Given the description of an element on the screen output the (x, y) to click on. 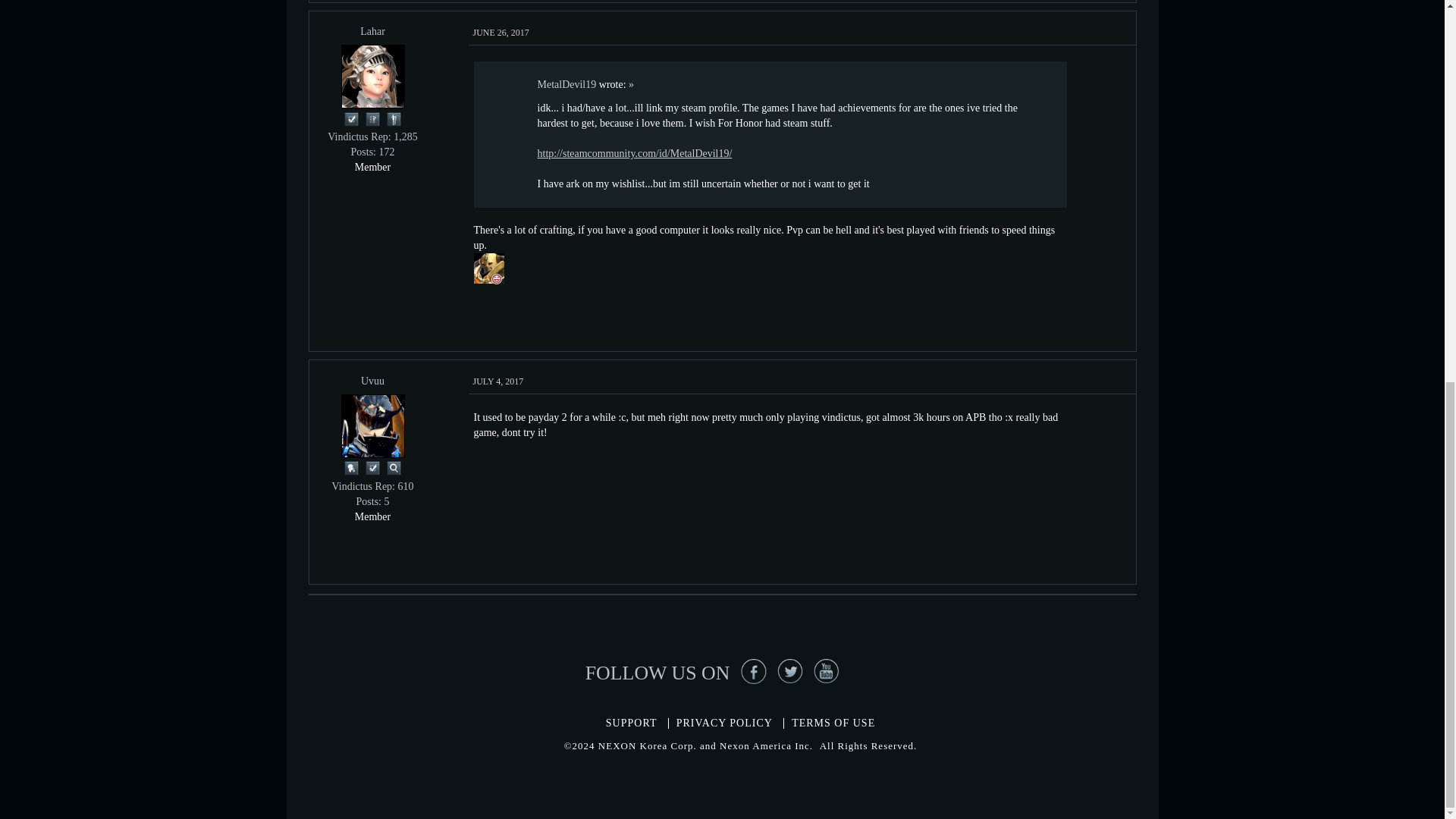
I Voted! (351, 117)
Personality (394, 117)
Lahar (372, 76)
June 26, 2017 12:30PM (501, 32)
Uvuu (372, 425)
Pollster (373, 117)
MetalDevil19 - Insightful on July 5, 2017. (488, 268)
MetalDevil19 (488, 266)
